Given the description of an element on the screen output the (x, y) to click on. 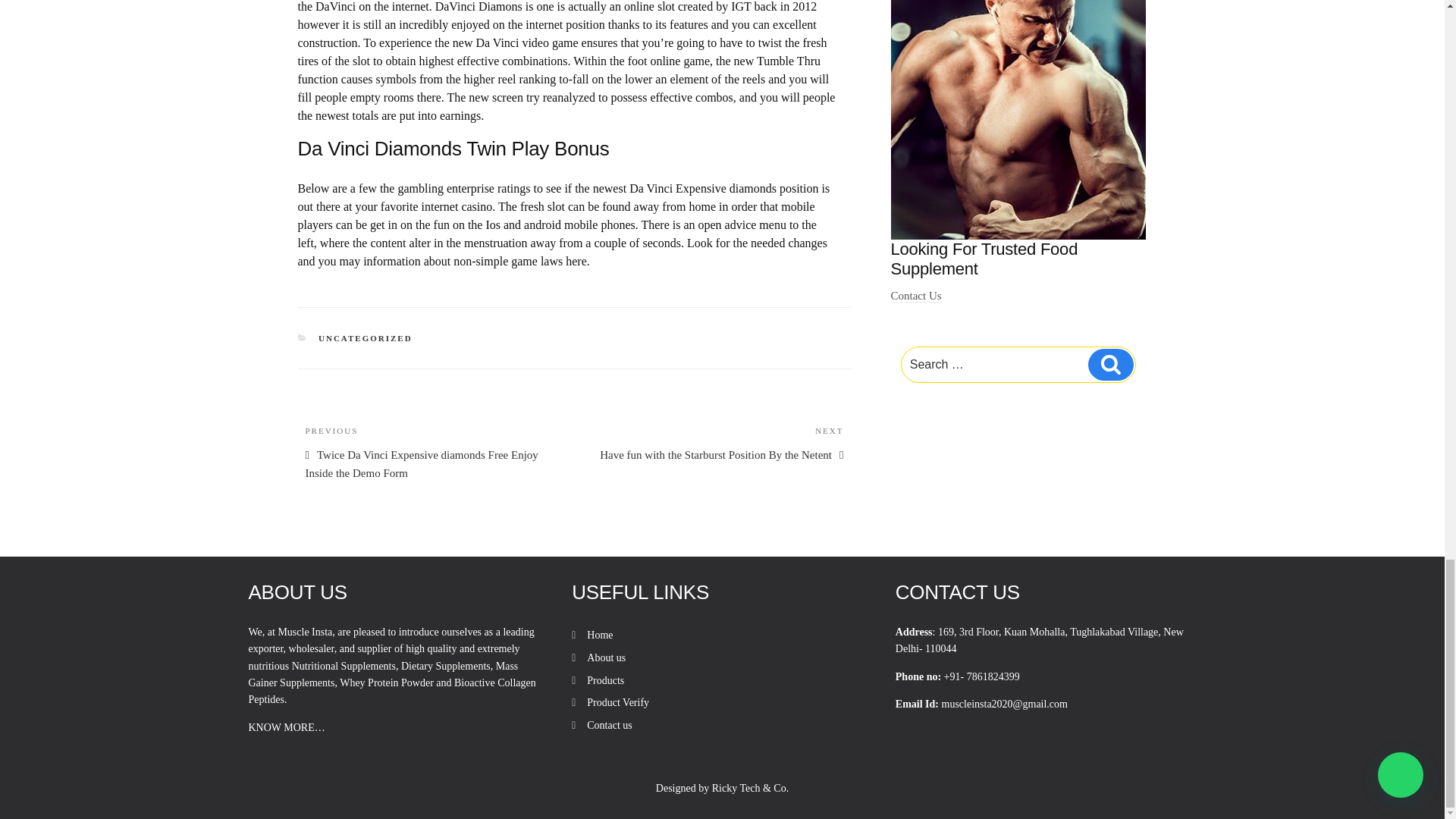
Products (605, 680)
UNCATEGORIZED (365, 338)
Product Verify (617, 702)
Home (599, 634)
About us (606, 657)
Contact Us (916, 295)
Contact us (608, 725)
Search (1109, 364)
